Given the description of an element on the screen output the (x, y) to click on. 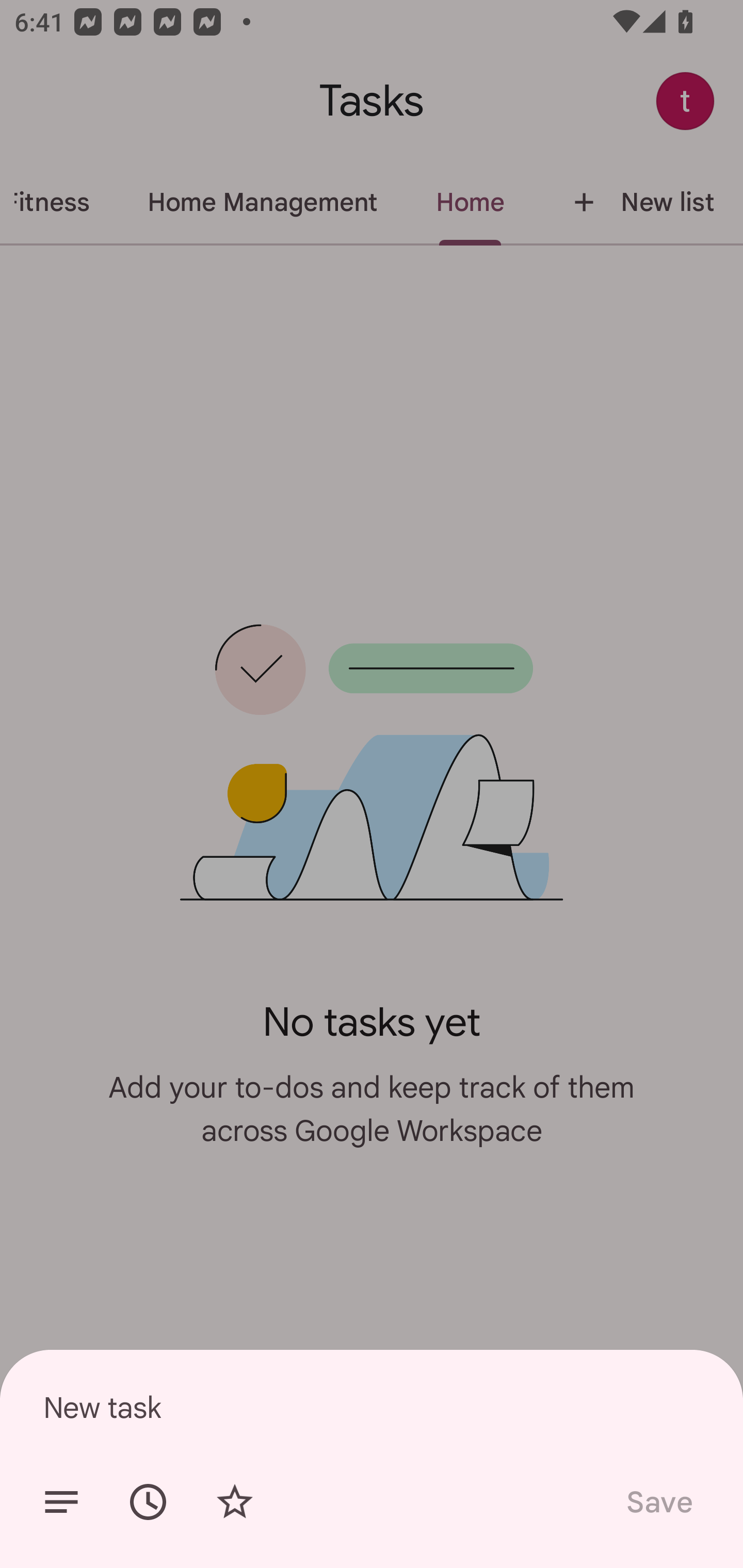
New task (371, 1407)
Save (659, 1501)
Add details (60, 1501)
Set date/time (147, 1501)
Add star (234, 1501)
